Given the description of an element on the screen output the (x, y) to click on. 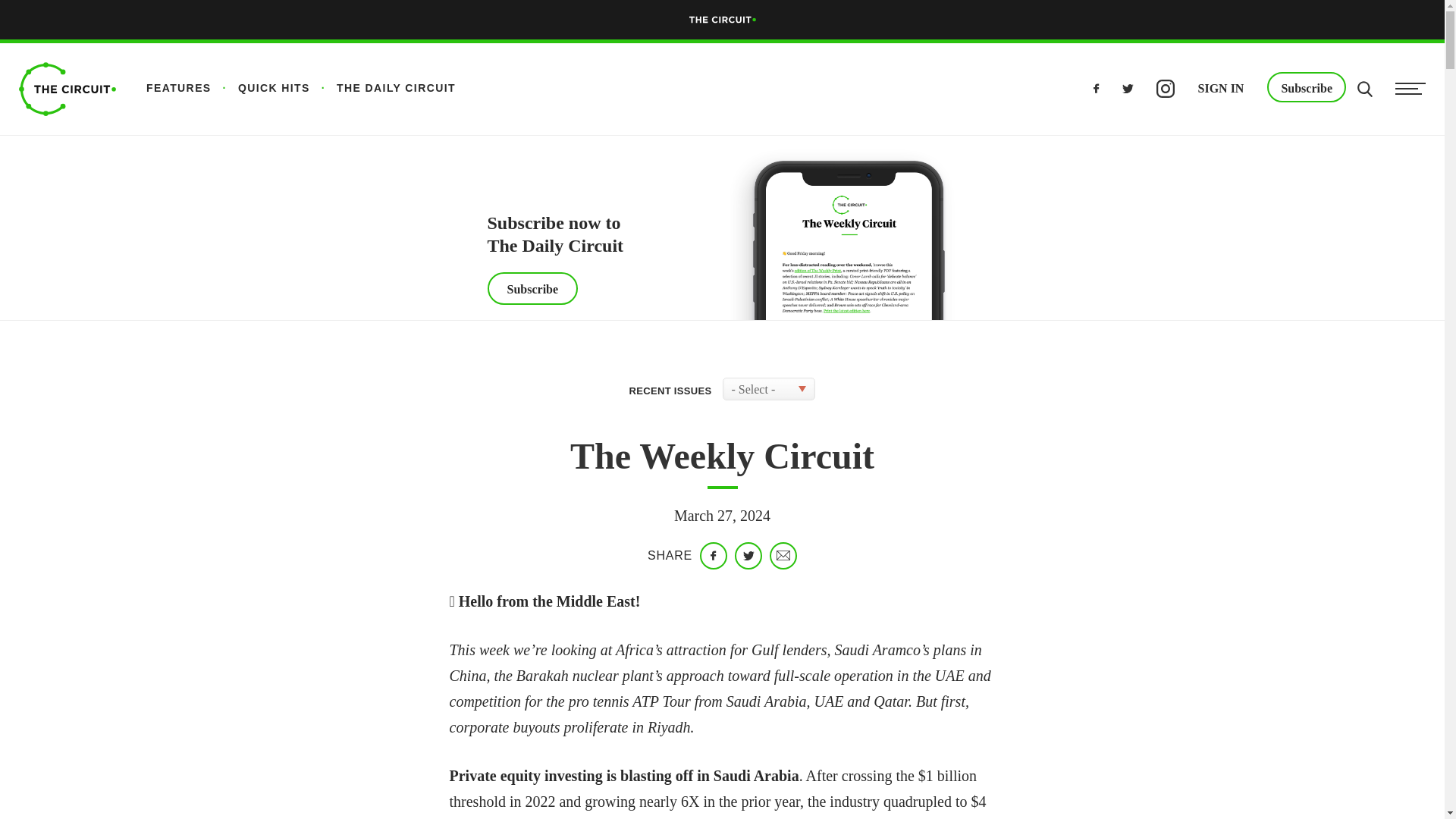
THE DAILY CIRCUIT (382, 88)
SIGN IN (1221, 86)
FEATURES (179, 88)
Subscribe (1305, 87)
QUICK HITS (260, 88)
Subscribe (532, 287)
